Given the description of an element on the screen output the (x, y) to click on. 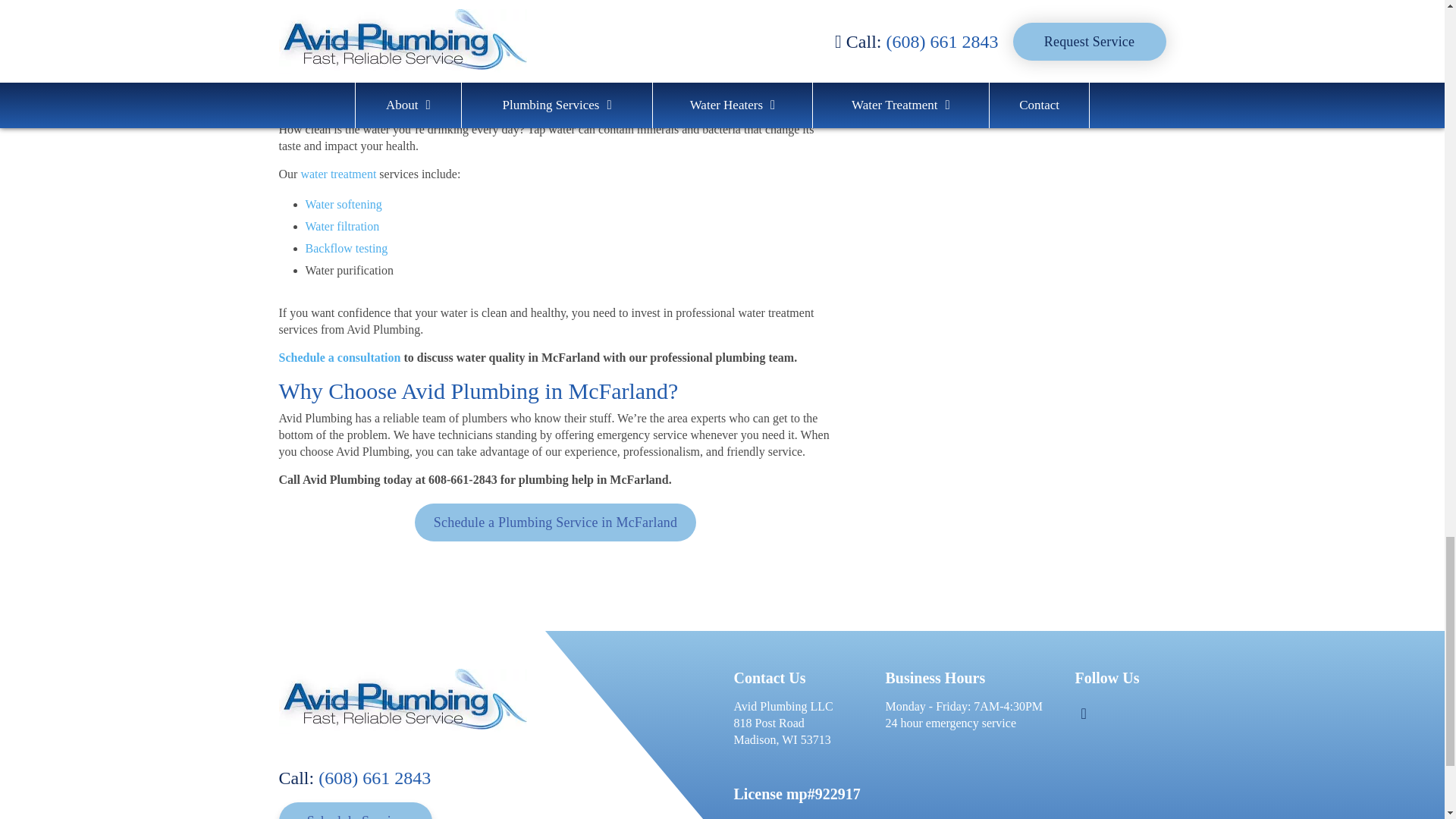
Facebook (1083, 713)
